Given the description of an element on the screen output the (x, y) to click on. 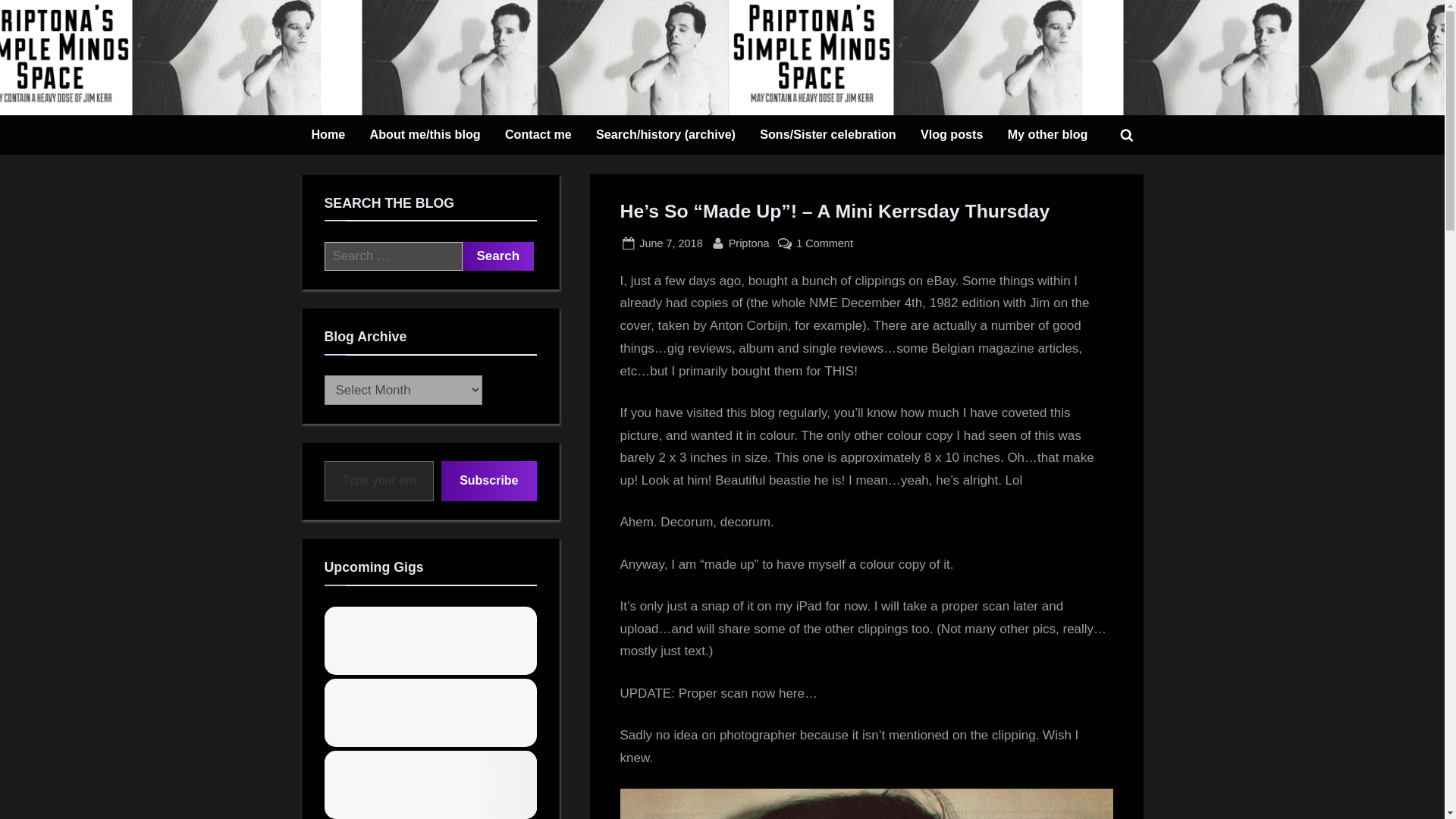
Search (498, 256)
Contact me (537, 134)
Please fill in this field. (749, 243)
Toggle search form (378, 481)
My other blog (671, 243)
Priptona's Simple Minds Space (1126, 134)
Home (1047, 134)
Search (893, 107)
